Given the description of an element on the screen output the (x, y) to click on. 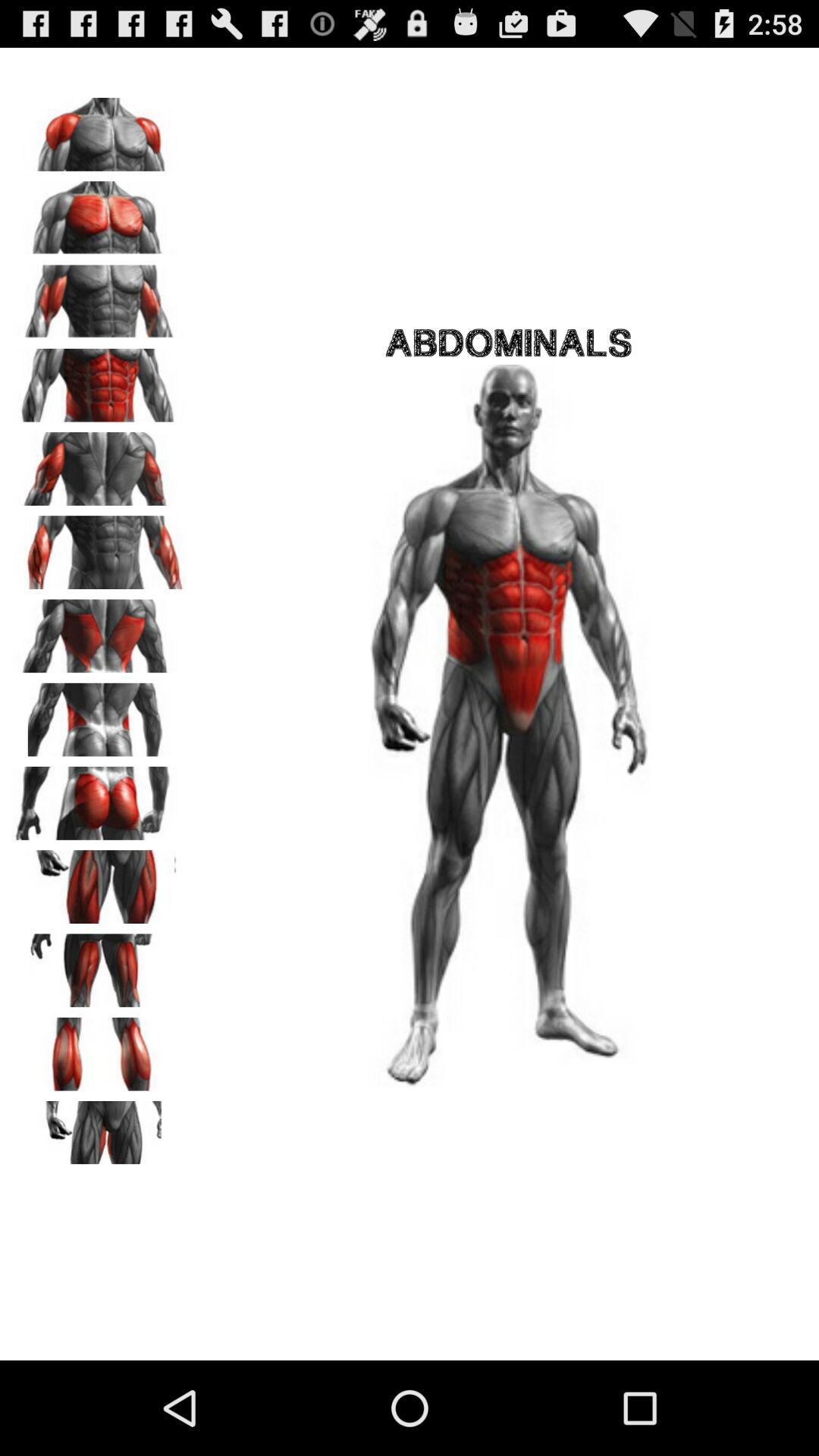
select image (99, 1132)
